Given the description of an element on the screen output the (x, y) to click on. 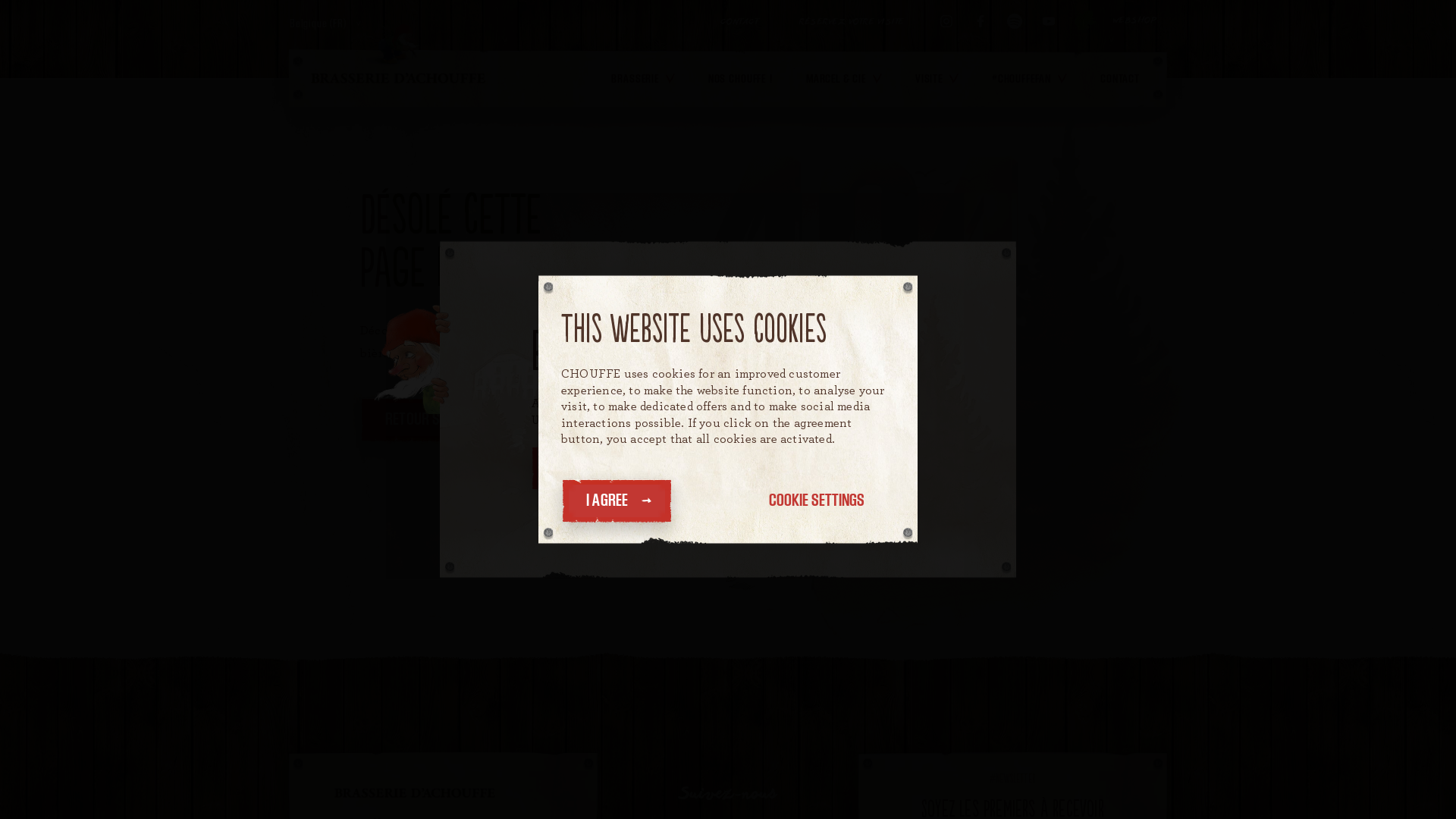
Suivez-nous sur Spotify Element type: text (1014, 21)
RETOUR SUR CHOUFFE.COM Element type: text (470, 419)
Suivez-nous sur Facebook Element type: text (979, 21)
Suivez-nous sur Youtube Element type: text (1047, 21)
WEBSHOP Element type: text (1134, 21)
COOKIE SETTINGS Element type: text (816, 500)
CONTACT Element type: text (738, 20)
BRASSERIE Element type: text (642, 78)
MARCEL & CIE Element type: text (843, 78)
Suivez-nous sur Instagram Element type: text (946, 21)
Belgique (FR) Element type: text (325, 24)
Brasserie Achouffe Element type: text (397, 77)
VISITE Element type: text (936, 78)
Brasserie d'Achouffe Element type: text (414, 799)
We Forest Element type: text (1083, 20)
CONTACT Element type: text (1119, 78)
NOS CHOUFFE ! Element type: text (740, 78)
I AGREE Element type: text (616, 500)
#CHOUFFEFAN Element type: text (1029, 78)
